Given the description of an element on the screen output the (x, y) to click on. 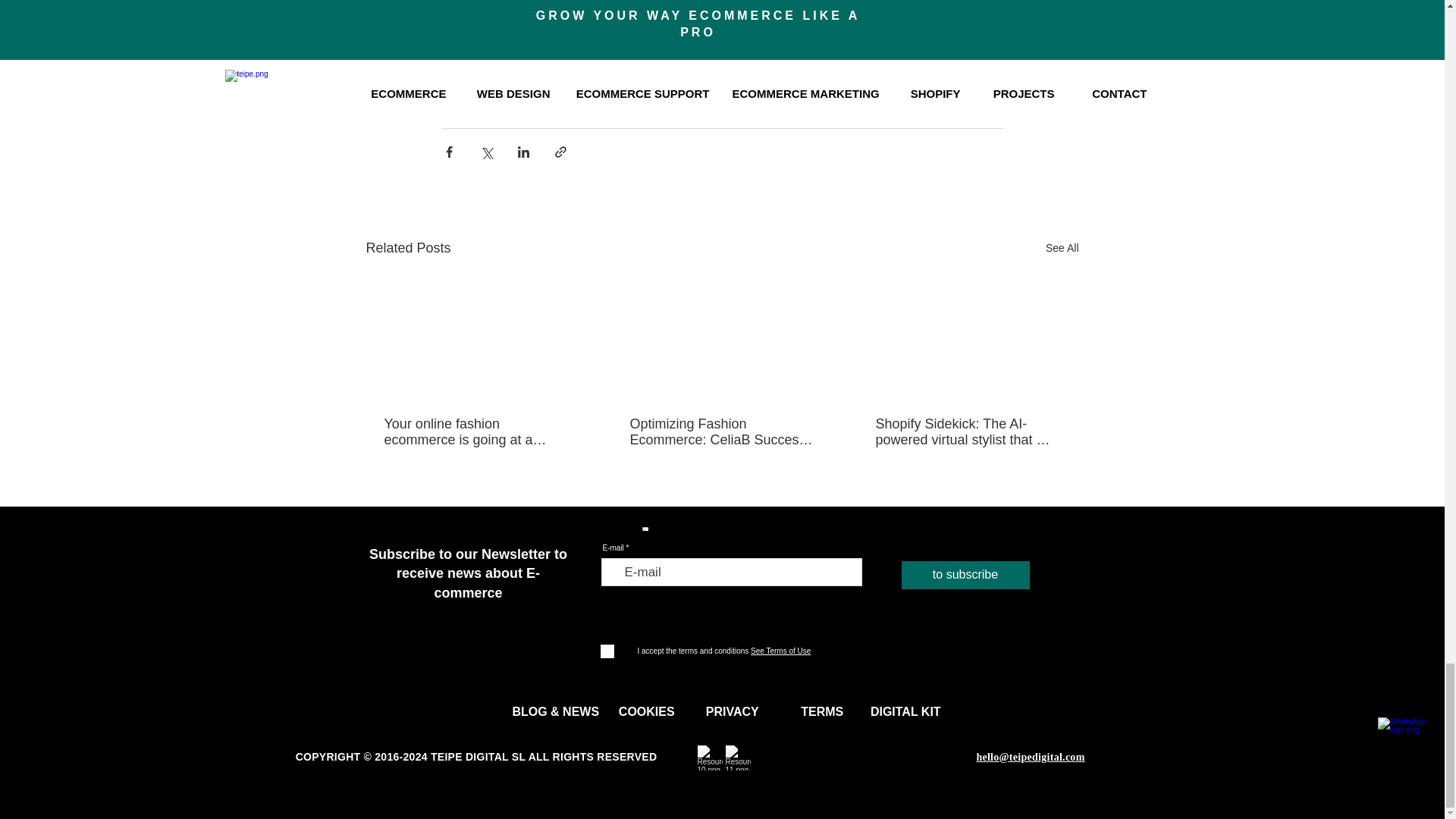
PRIVACY (733, 711)
DIGITAL KIT (907, 711)
TERMS (824, 711)
to subscribe (965, 574)
COOKIES (648, 711)
See Terms of Use (779, 651)
See All (1061, 248)
